Given the description of an element on the screen output the (x, y) to click on. 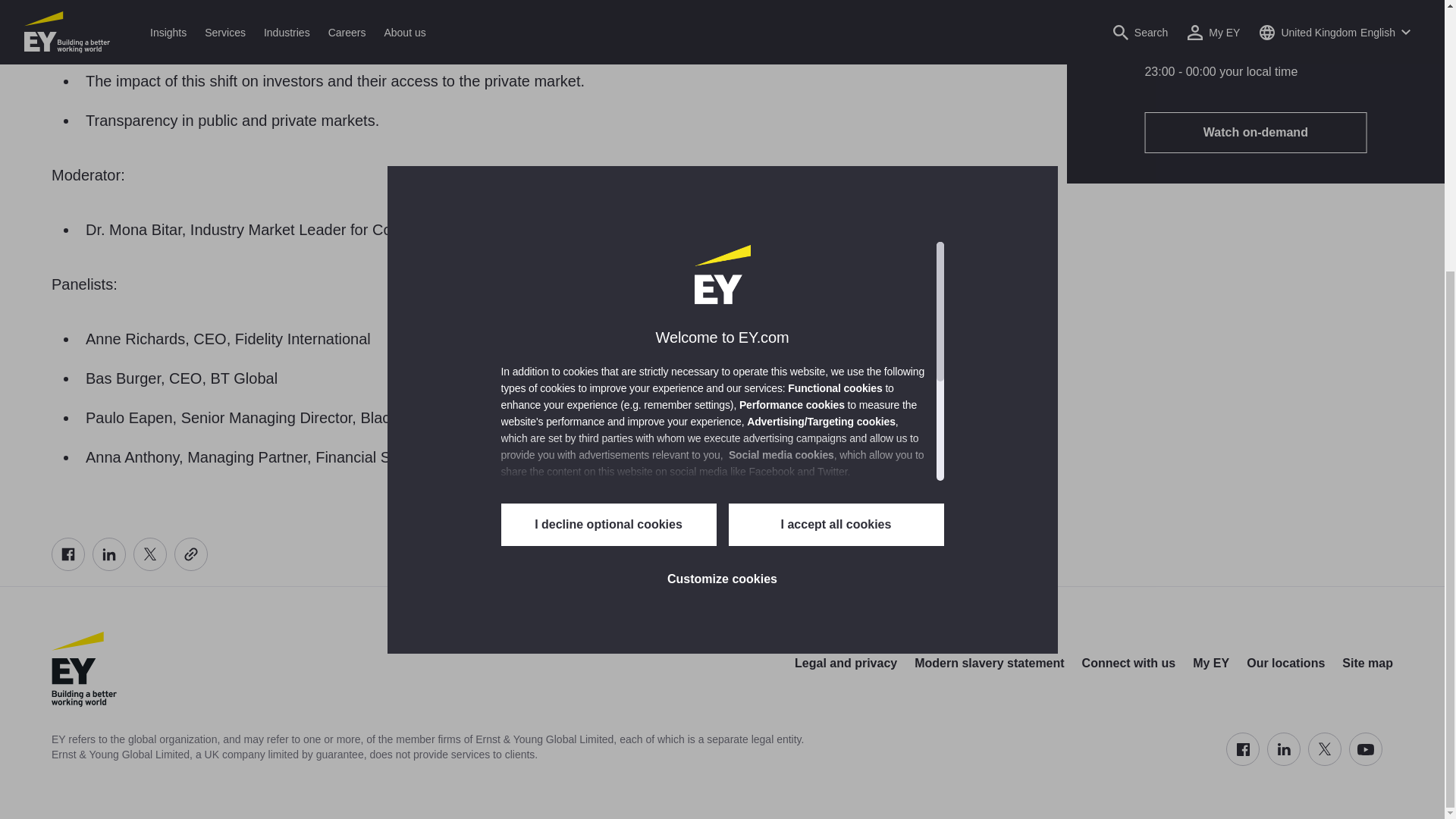
Copy link (191, 553)
Social Media Share (129, 553)
Linkedin (109, 553)
Facebook (67, 553)
